Given the description of an element on the screen output the (x, y) to click on. 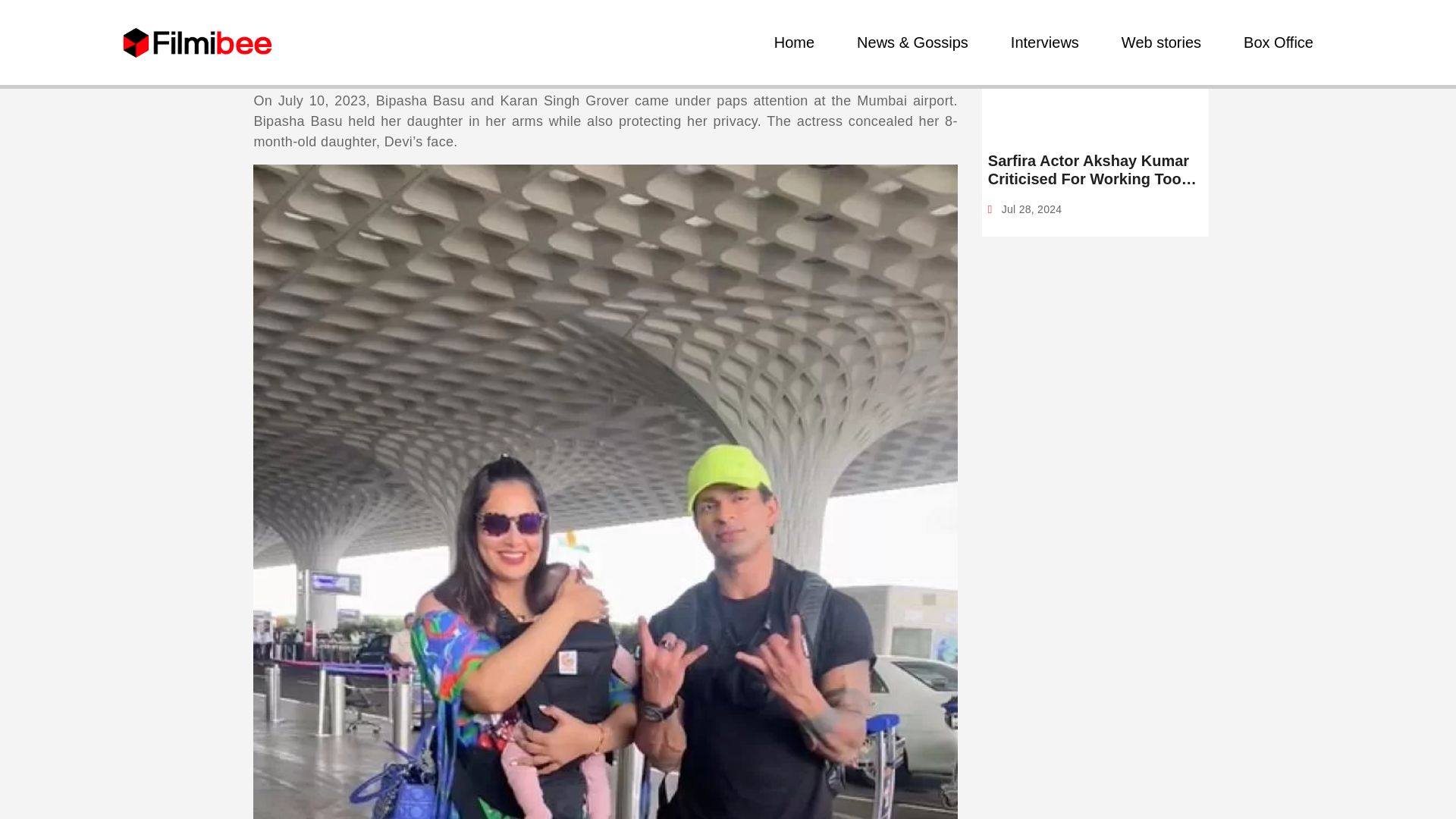
Sarfira Actor Akshay Kumar Criticised For Working Too Much (1095, 169)
